Given the description of an element on the screen output the (x, y) to click on. 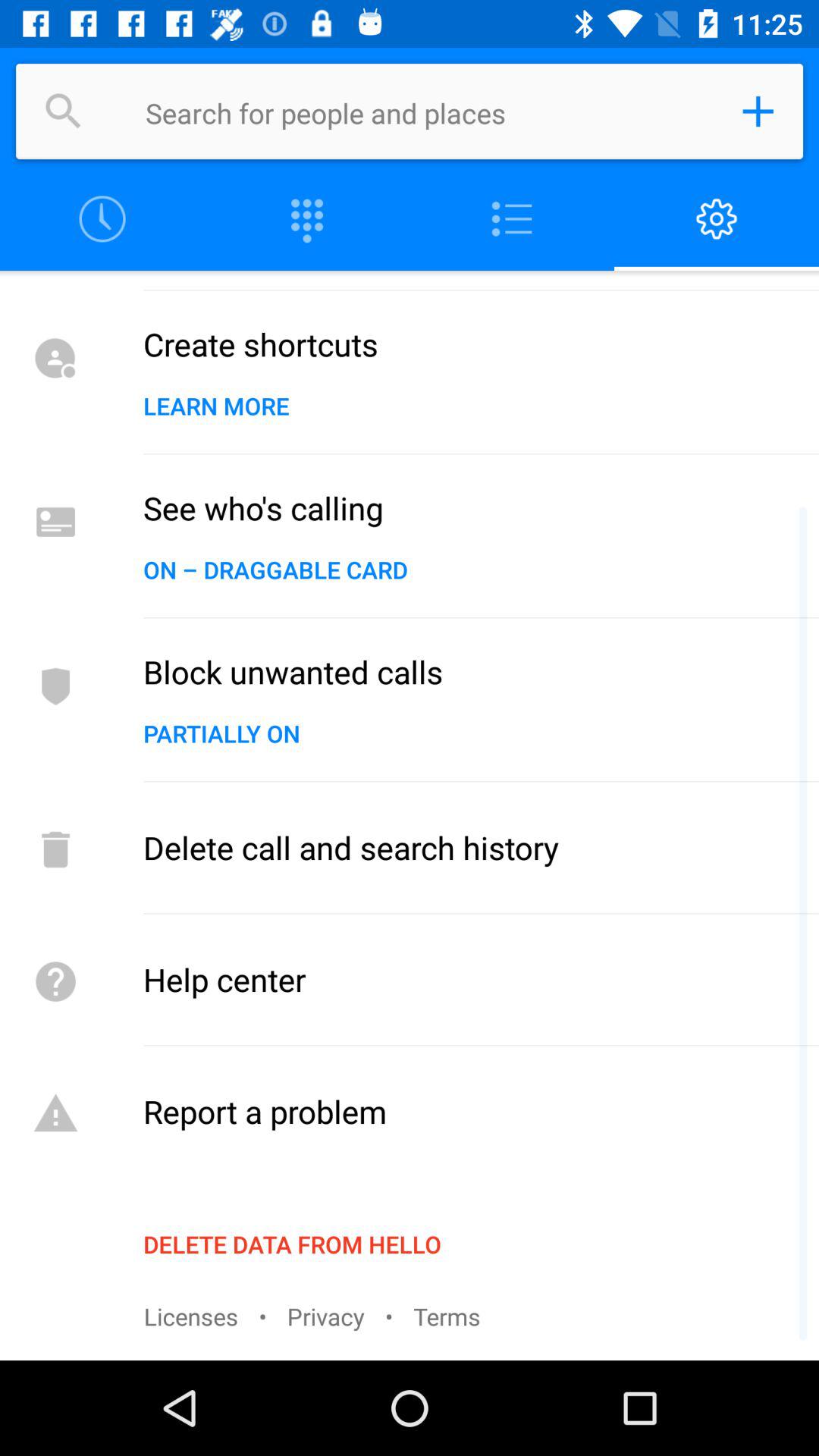
switch to main category menu (511, 219)
